Given the description of an element on the screen output the (x, y) to click on. 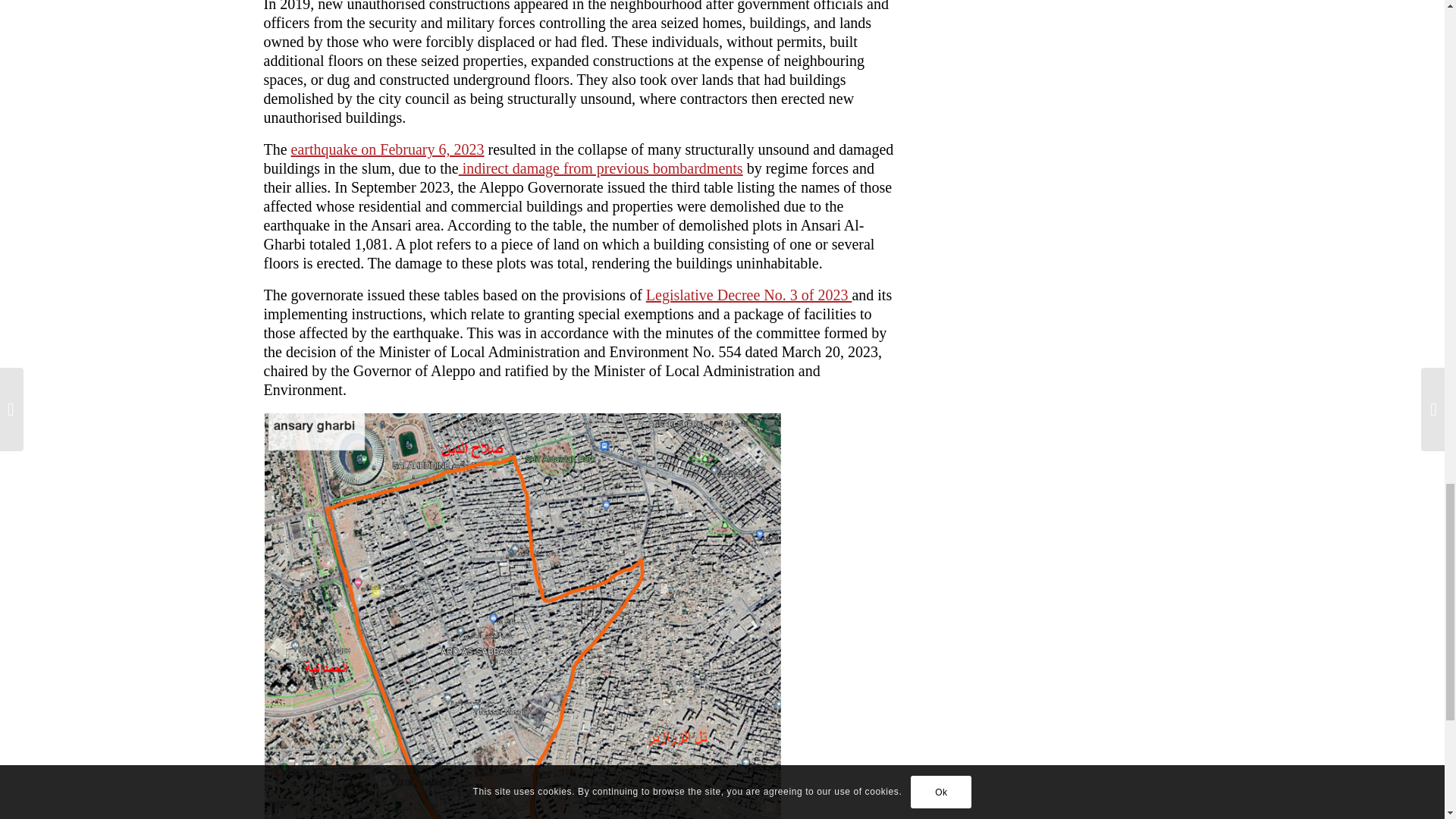
indirect damage from previous bombardments (600, 167)
earthquake on February 6, 2023 (387, 149)
Legislative Decree No. 3 of 2023 (748, 294)
